Given the description of an element on the screen output the (x, y) to click on. 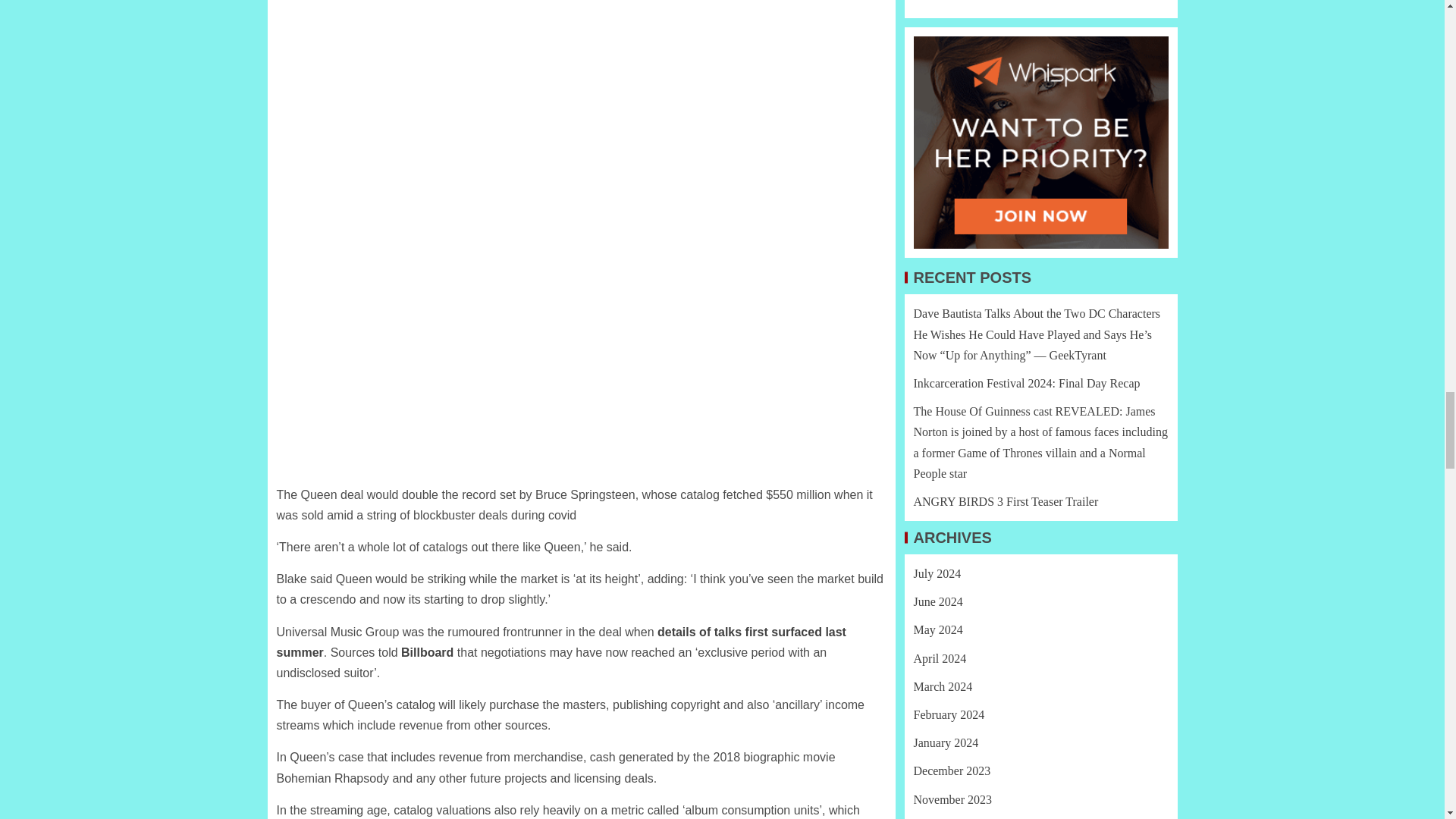
Billboard (429, 652)
details of talks first surfaced last summer (560, 642)
